Given the description of an element on the screen output the (x, y) to click on. 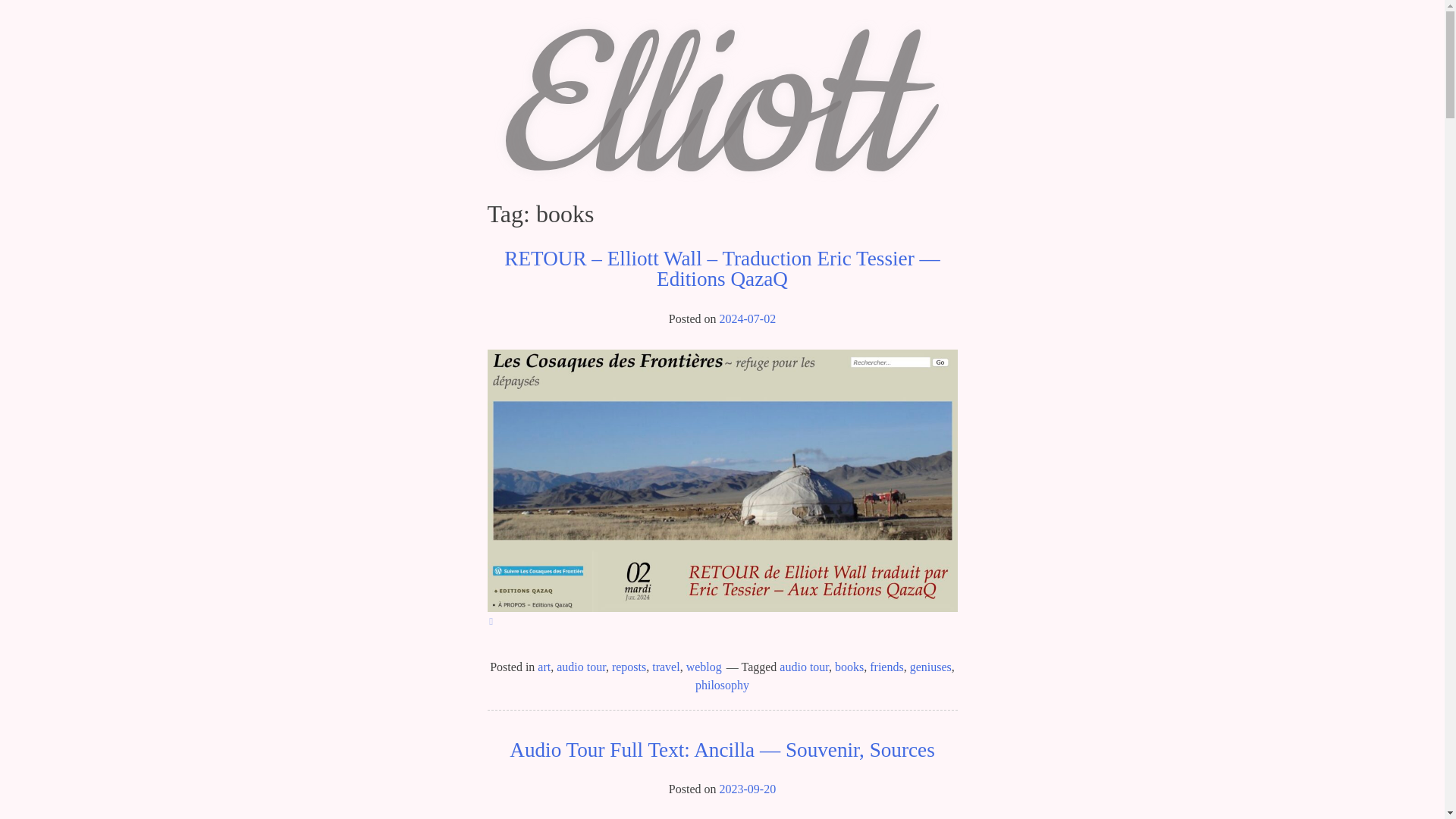
audio tour (803, 666)
art (543, 666)
geniuses (931, 666)
weblog (703, 666)
2023-09-20 (747, 788)
philosophy (722, 684)
reposts (628, 666)
audio tour (580, 666)
books (848, 666)
friends (885, 666)
